Given the description of an element on the screen output the (x, y) to click on. 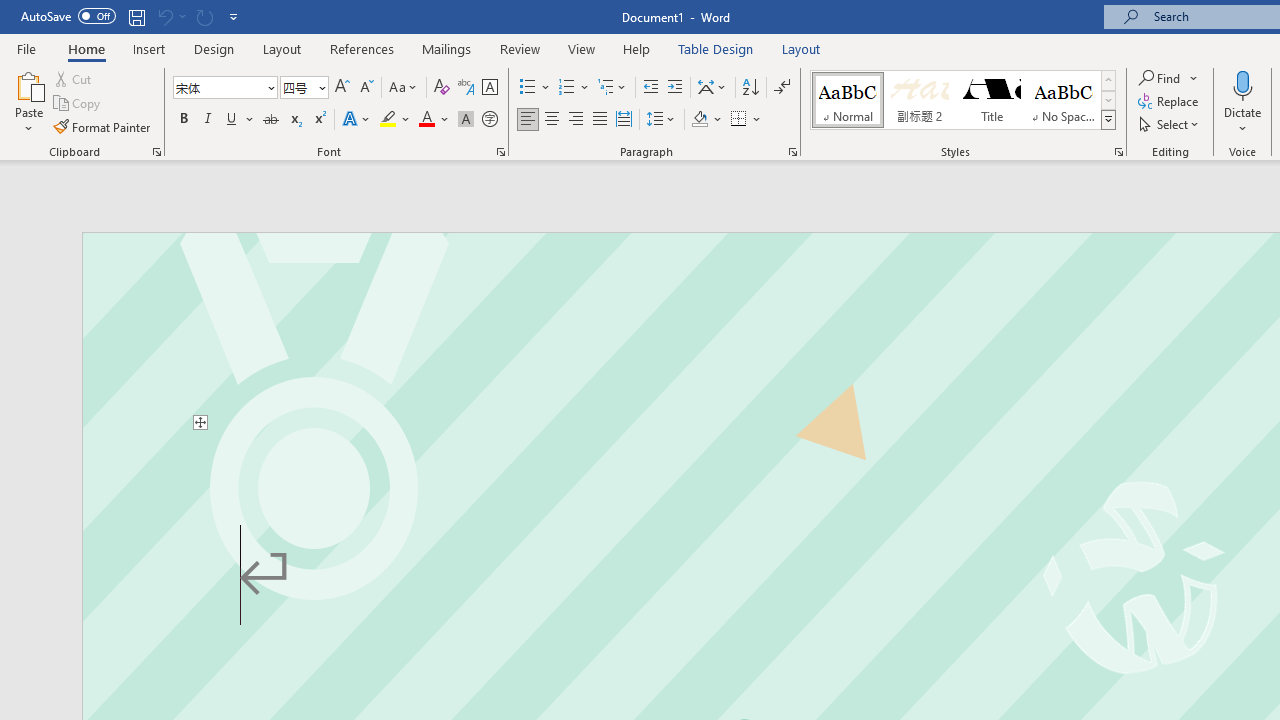
Font Color Red (426, 119)
